Given the description of an element on the screen output the (x, y) to click on. 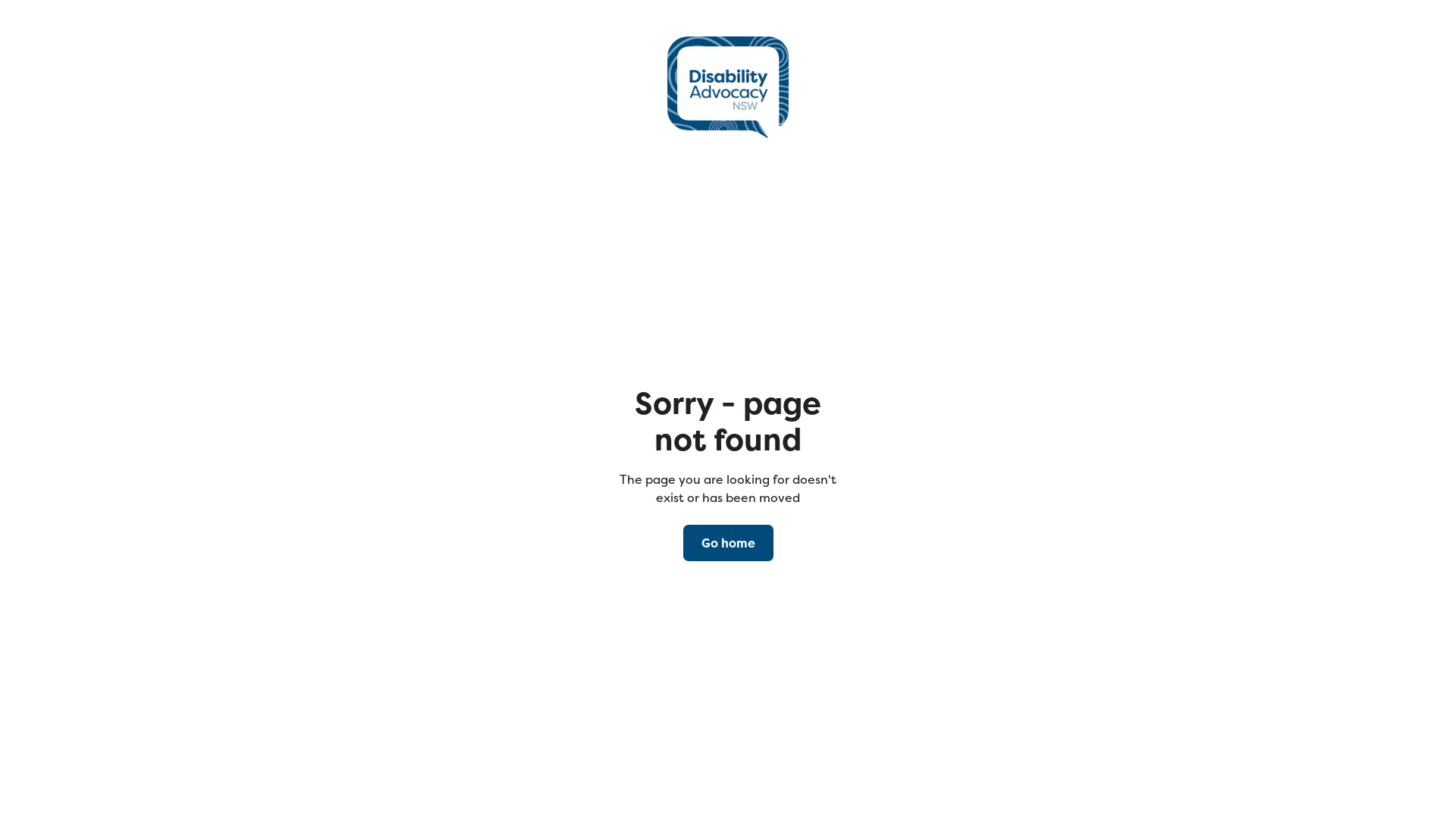
Go home Element type: text (727, 542)
